Given the description of an element on the screen output the (x, y) to click on. 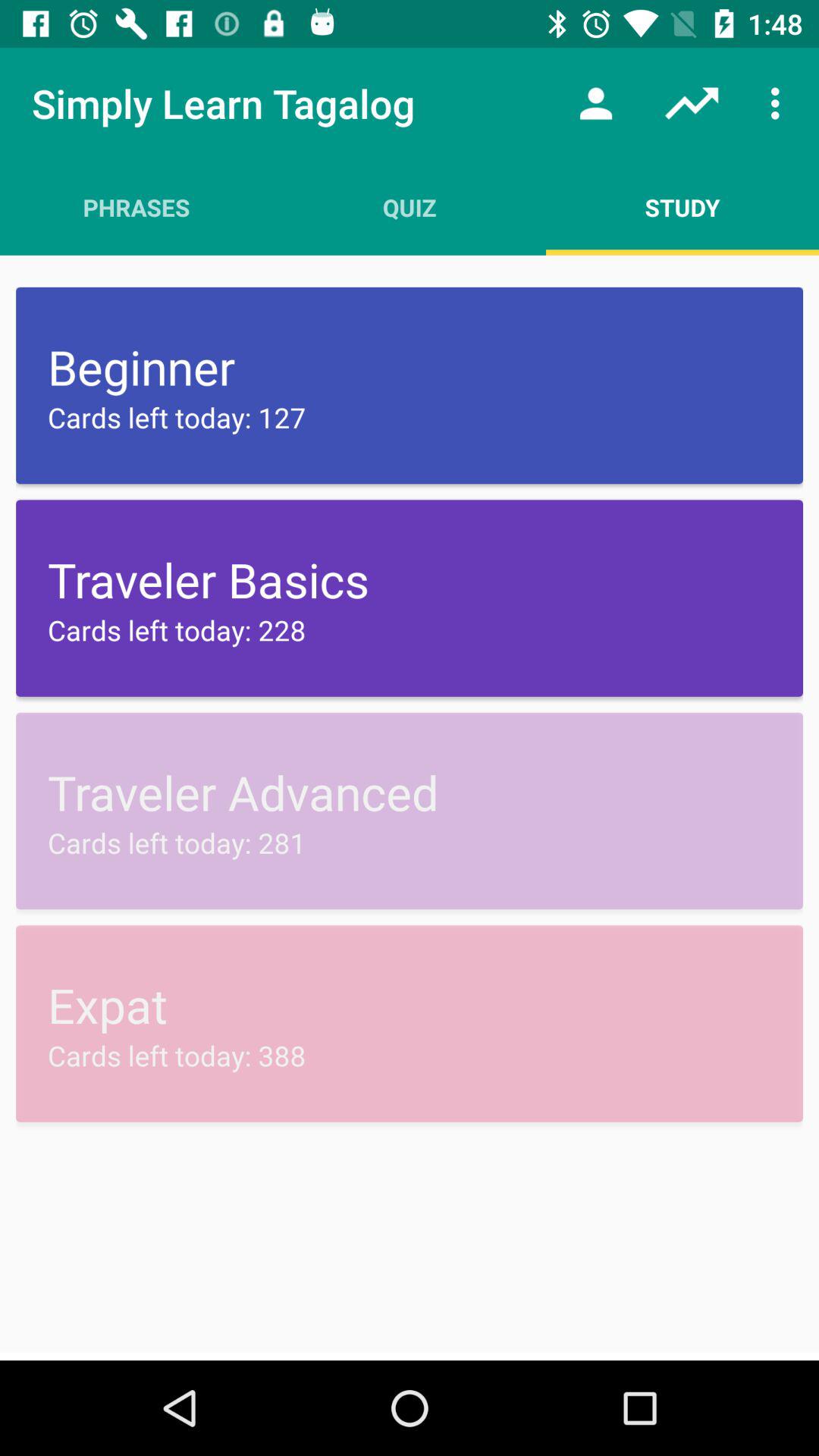
choose icon below simply learn tagalog icon (136, 207)
